Given the description of an element on the screen output the (x, y) to click on. 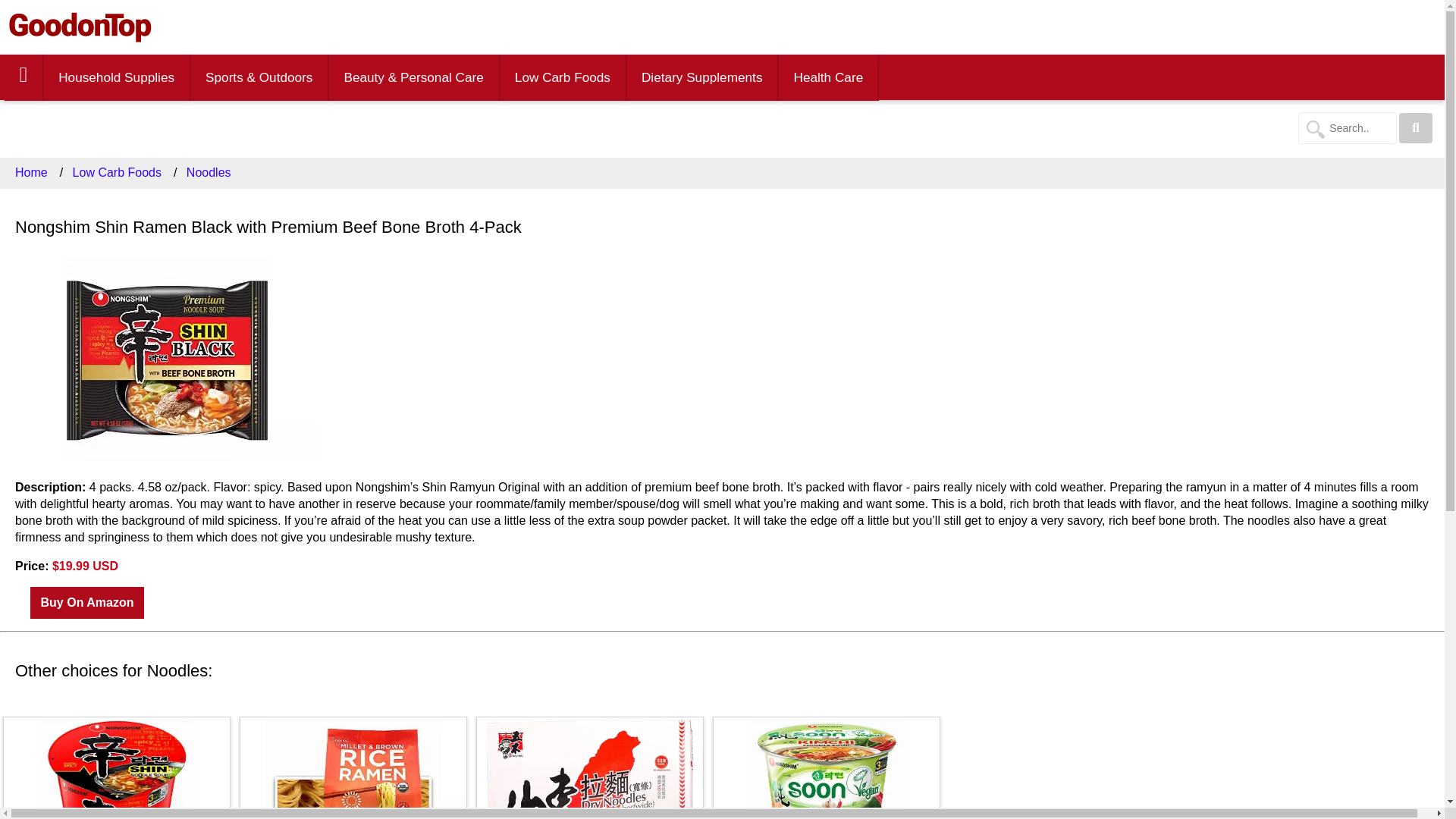
Household Supplies (116, 77)
Go to Home Page (79, 27)
Go to Household Supplies page (116, 77)
